Given the description of an element on the screen output the (x, y) to click on. 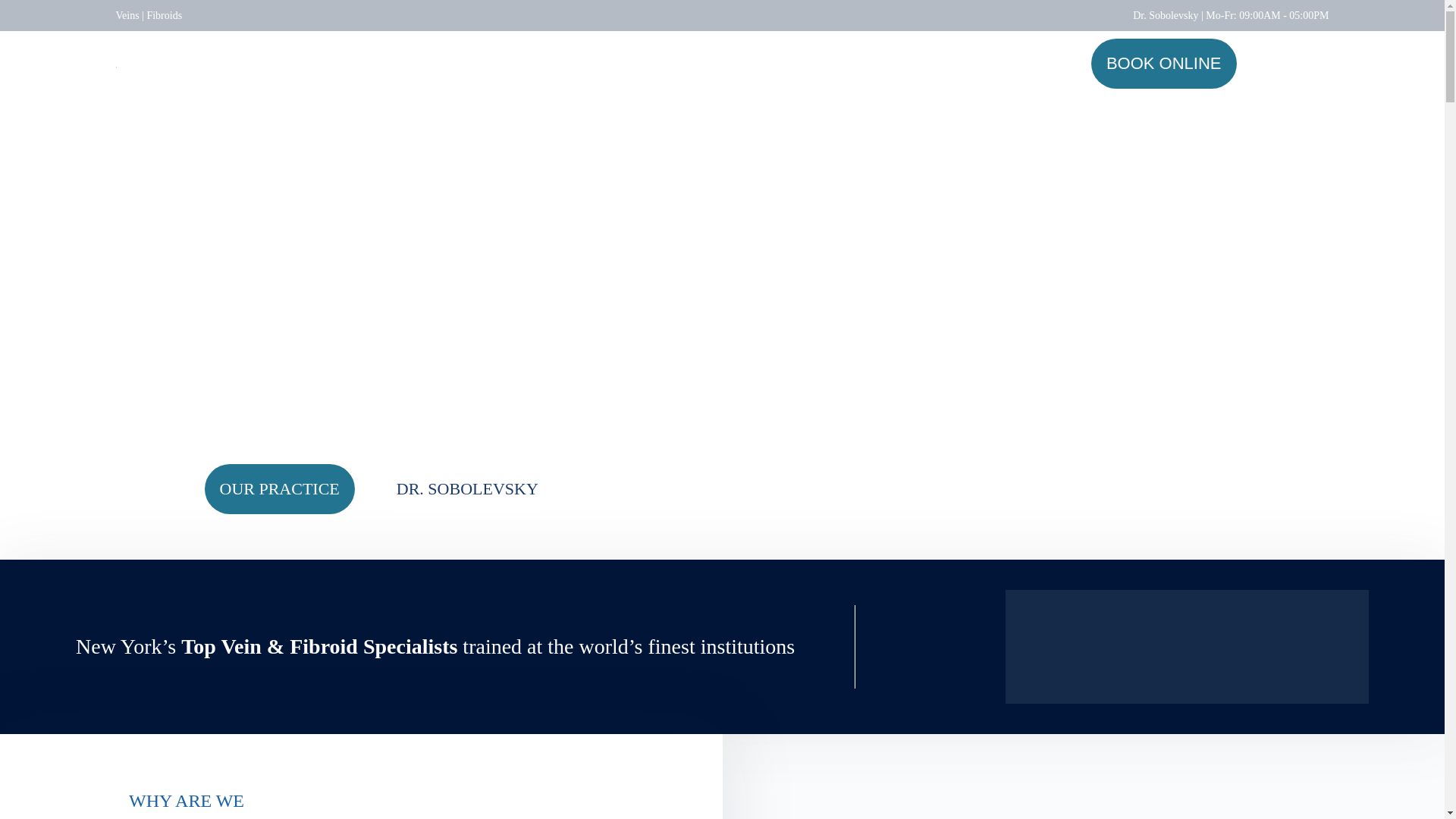
Veins (126, 15)
BOOK ONLINE (1163, 63)
Dr. Sobolevsky (1165, 15)
Fibroids (164, 15)
